Given the description of an element on the screen output the (x, y) to click on. 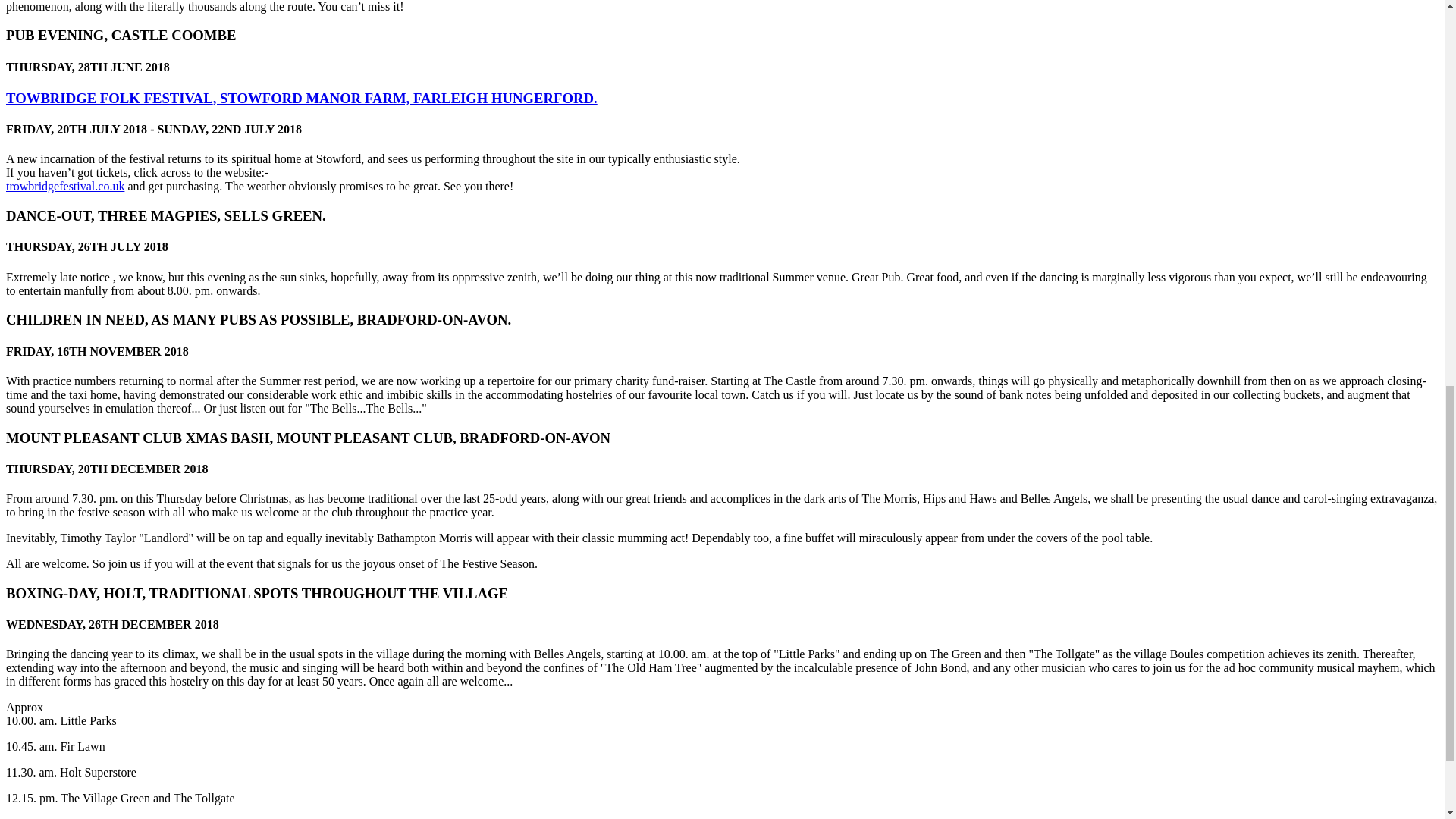
trowbridgefestival.co.uk (64, 185)
